Given the description of an element on the screen output the (x, y) to click on. 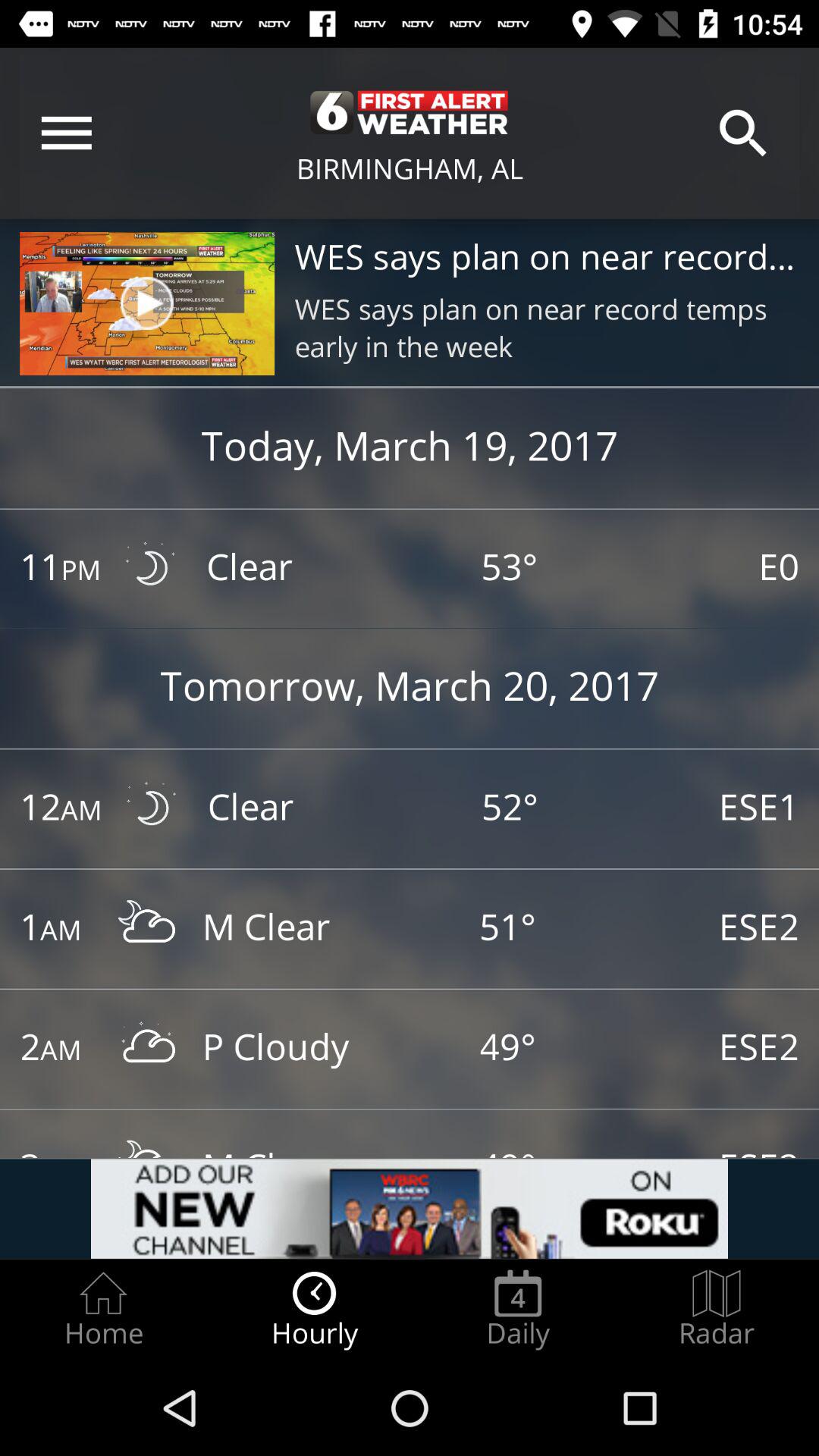
turn off daily (518, 1309)
